Given the description of an element on the screen output the (x, y) to click on. 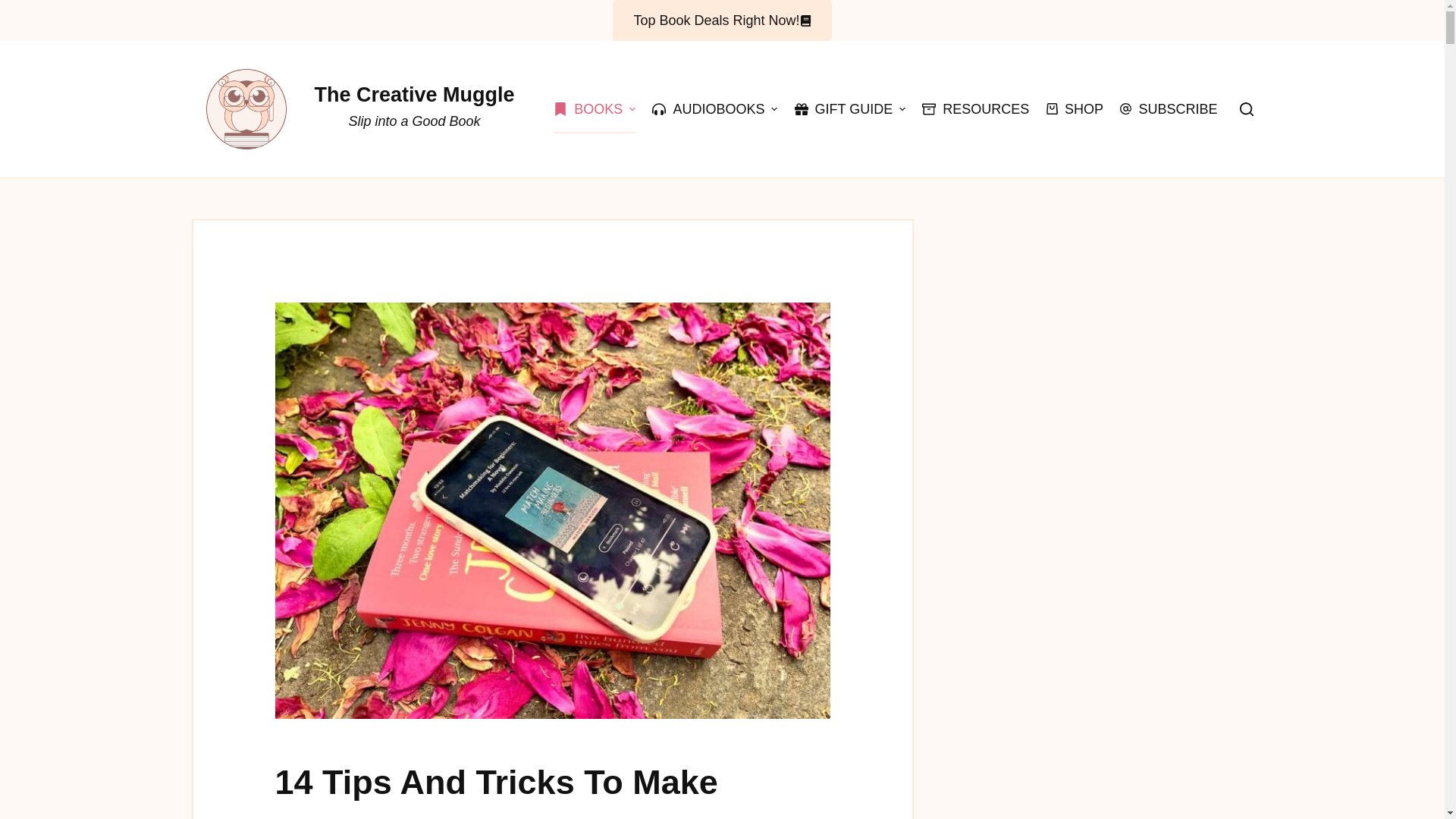
BOOKS (594, 109)
Skip to content (15, 7)
The Creative Muggle (413, 94)
Top Book Deals Right Now! (721, 20)
AUDIOBOOKS (714, 109)
